Given the description of an element on the screen output the (x, y) to click on. 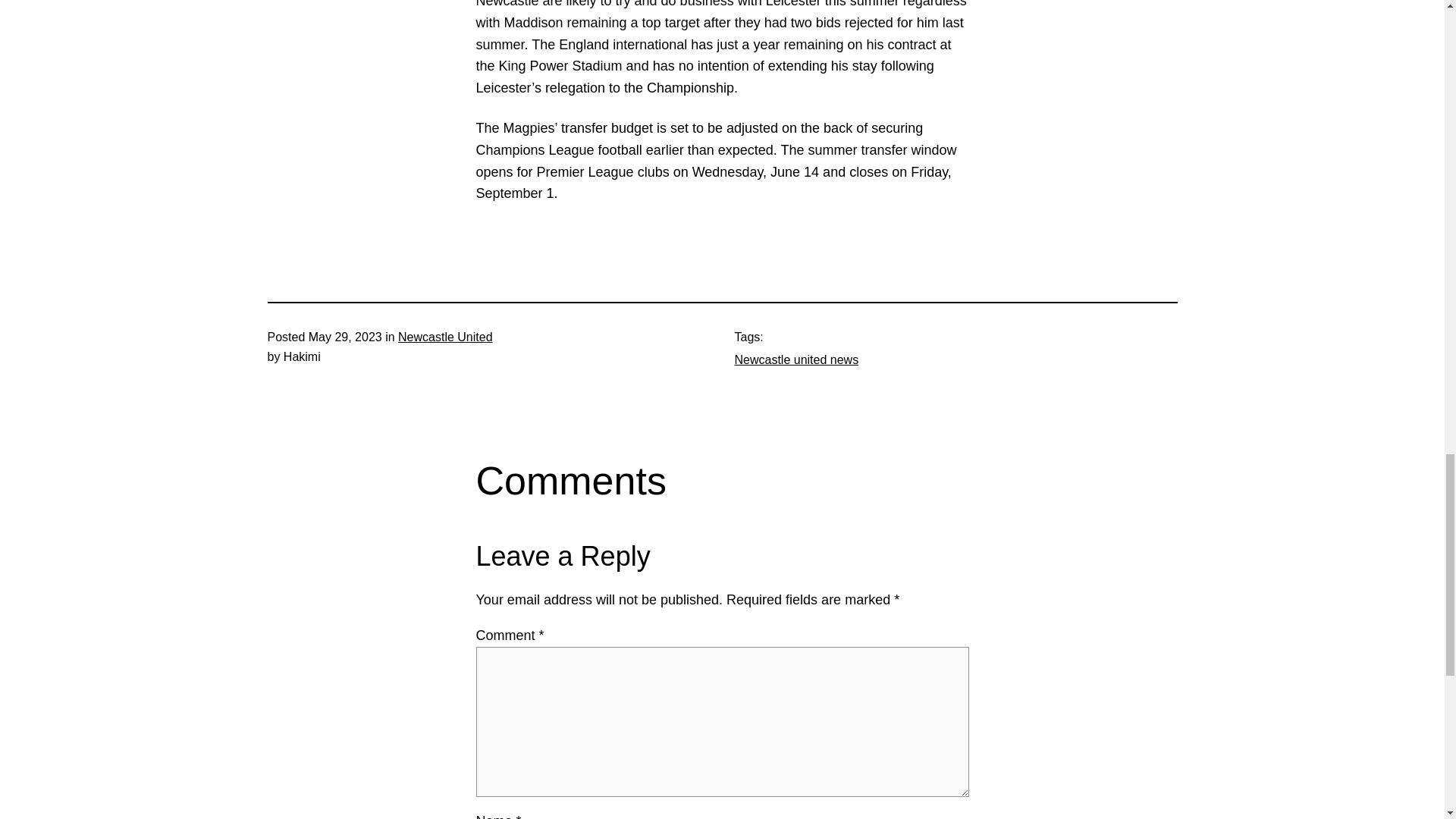
Newcastle united news (796, 359)
Newcastle United (445, 336)
